Given the description of an element on the screen output the (x, y) to click on. 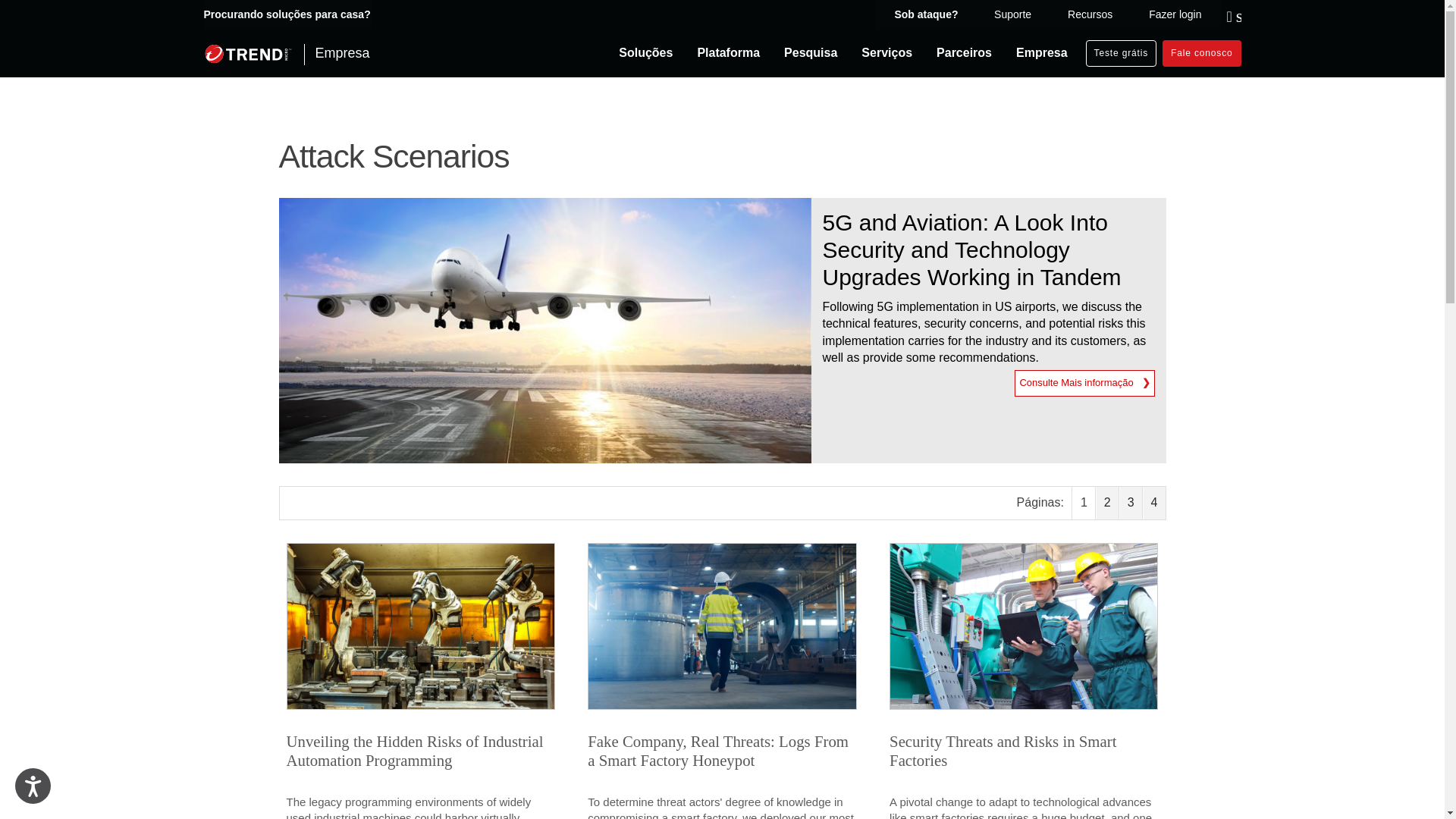
Empresa (286, 53)
Open Accessibility Menu (32, 785)
EquallyAI Widget Activation Icon (32, 785)
